Given the description of an element on the screen output the (x, y) to click on. 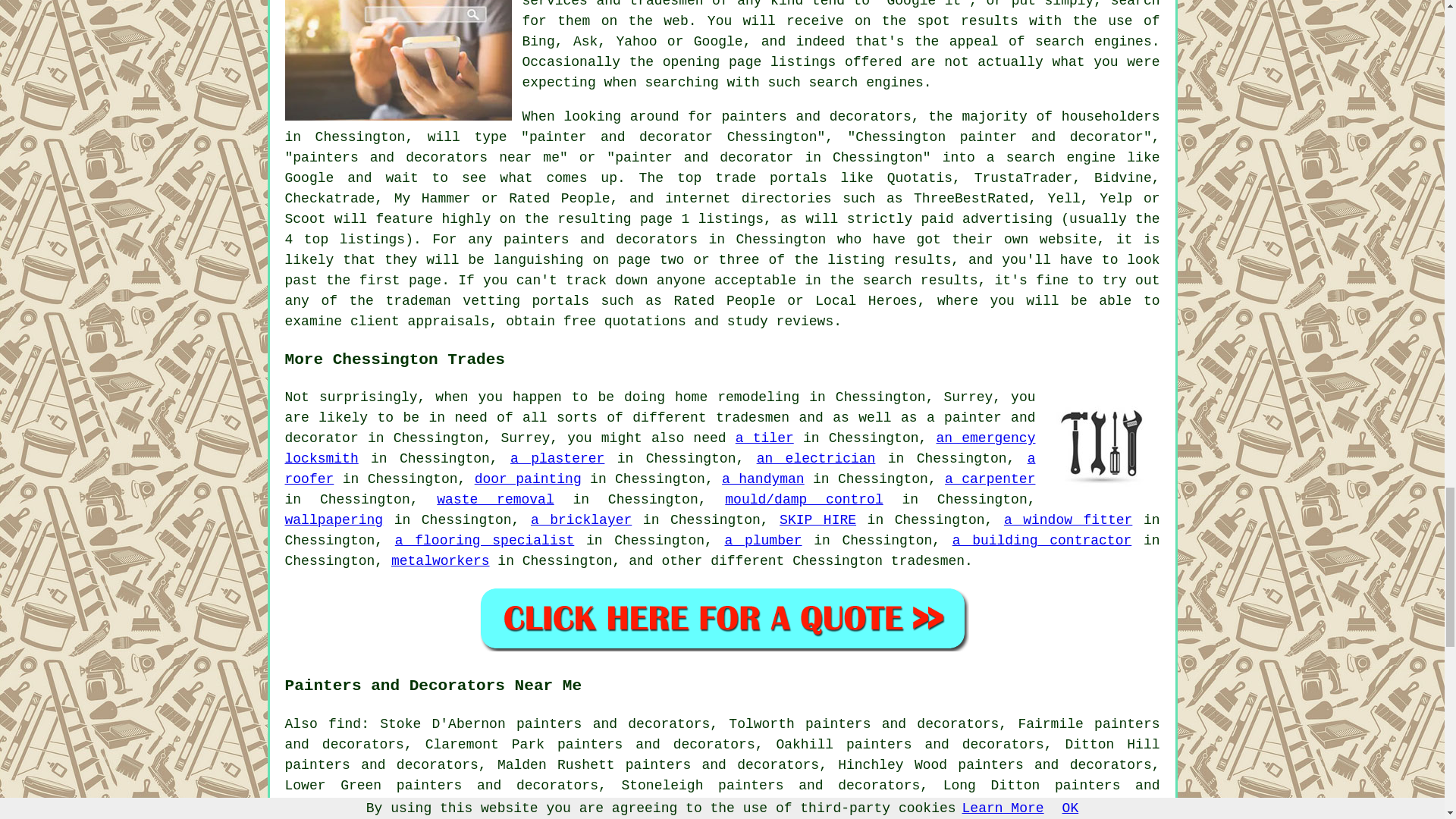
painter and decorator (660, 427)
Search Engine Results Painters and Decorators Chessington (398, 60)
More Chessington Tradesmen (1103, 444)
